Given the description of an element on the screen output the (x, y) to click on. 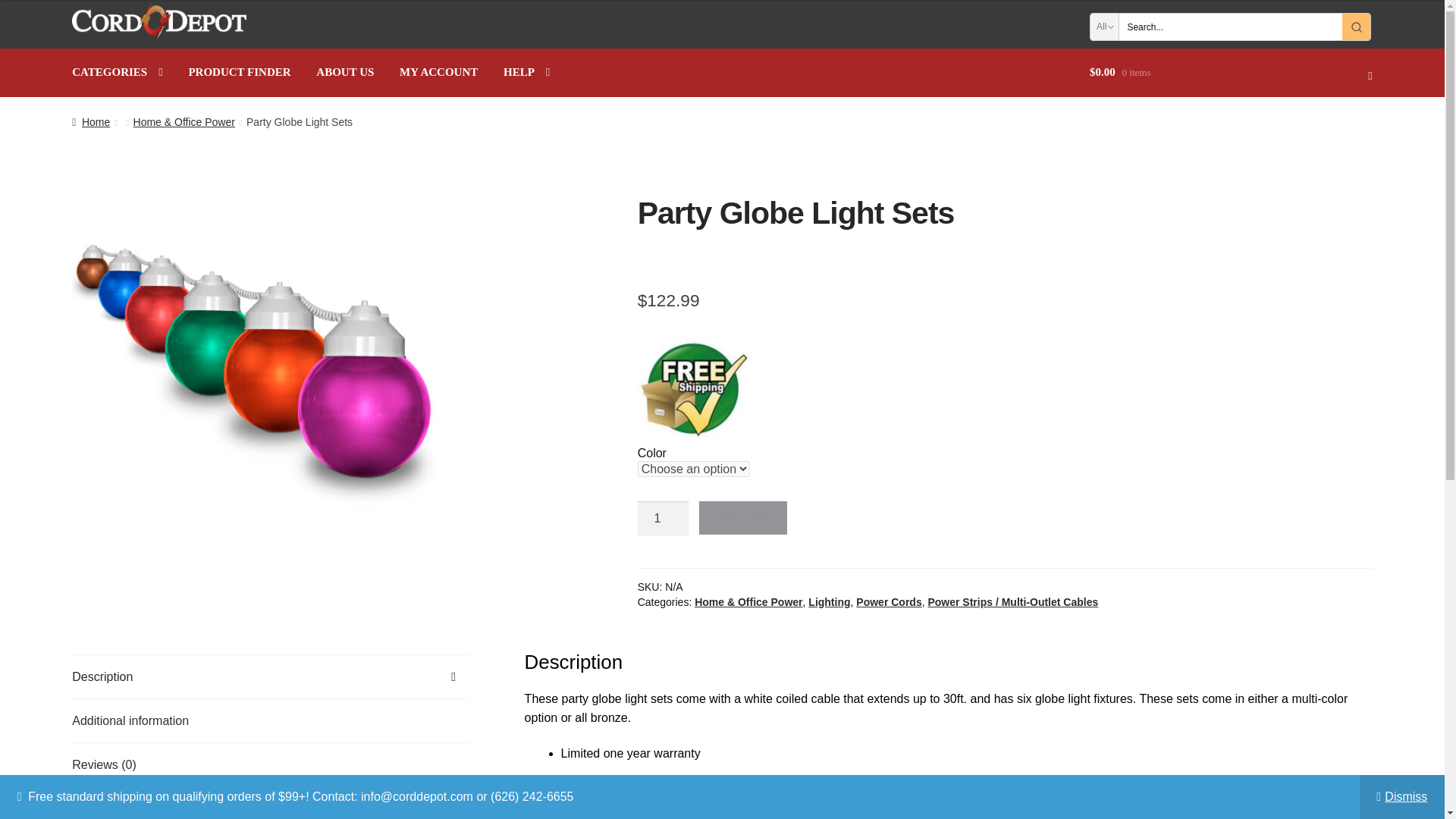
Cord Depot (158, 20)
HELP (526, 72)
CATEGORIES (117, 72)
MY ACCOUNT (438, 72)
1 (662, 518)
PRODUCT FINDER (238, 72)
Go (1356, 26)
ABOUT US (344, 72)
Search... (1229, 26)
